Given the description of an element on the screen output the (x, y) to click on. 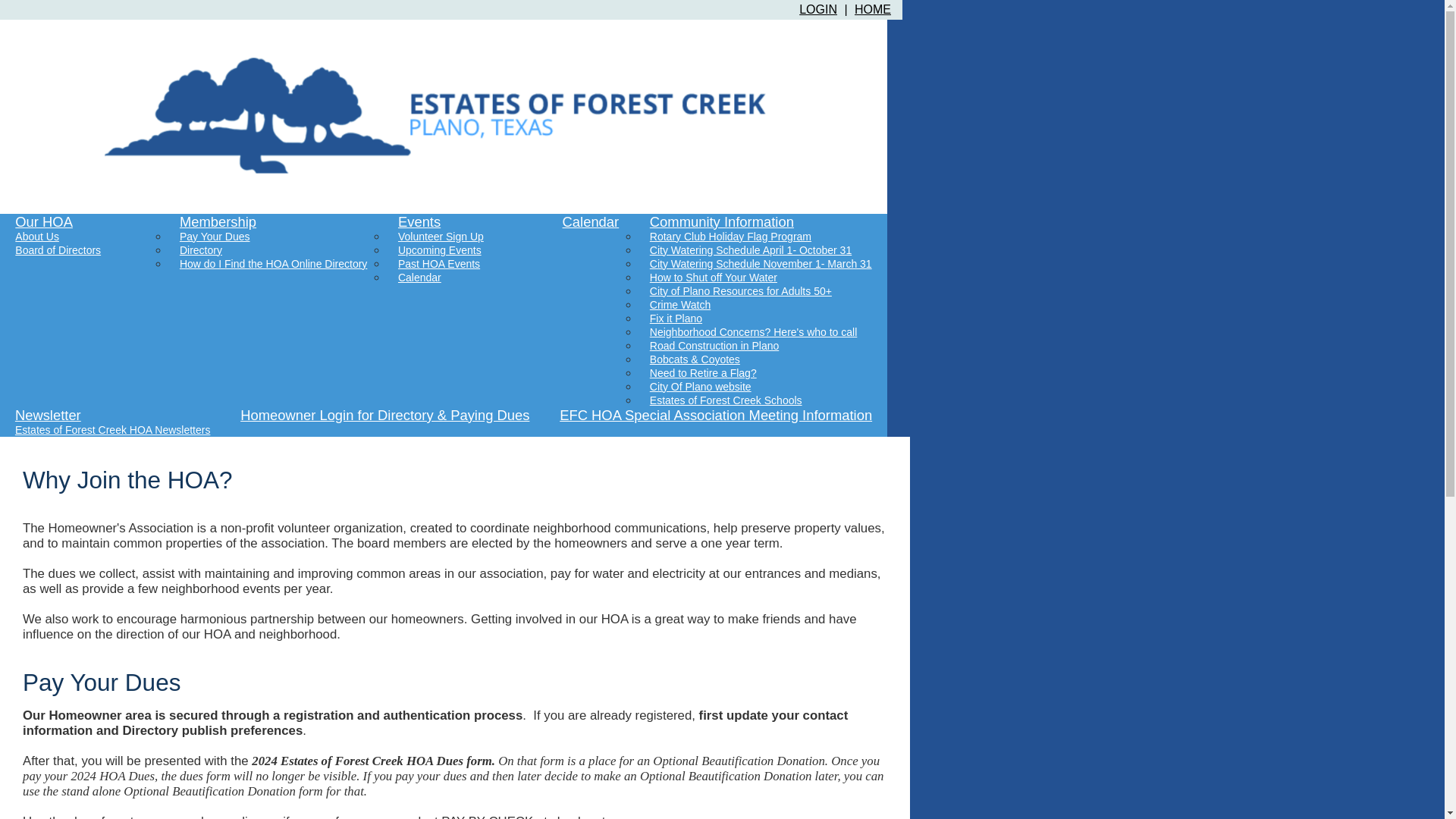
Volunteer Sign Up (441, 236)
Crime Watch (680, 304)
City Watering Schedule November 1- March 31 (761, 263)
Calendar (590, 221)
Directory (200, 249)
Upcoming Events (440, 249)
City Watering Schedule April 1- October 31 (751, 249)
EFC HOA Special Association Meeting Information (715, 414)
Estates of Forest Creek Schools (726, 400)
Pay Your Dues (215, 236)
